Given the description of an element on the screen output the (x, y) to click on. 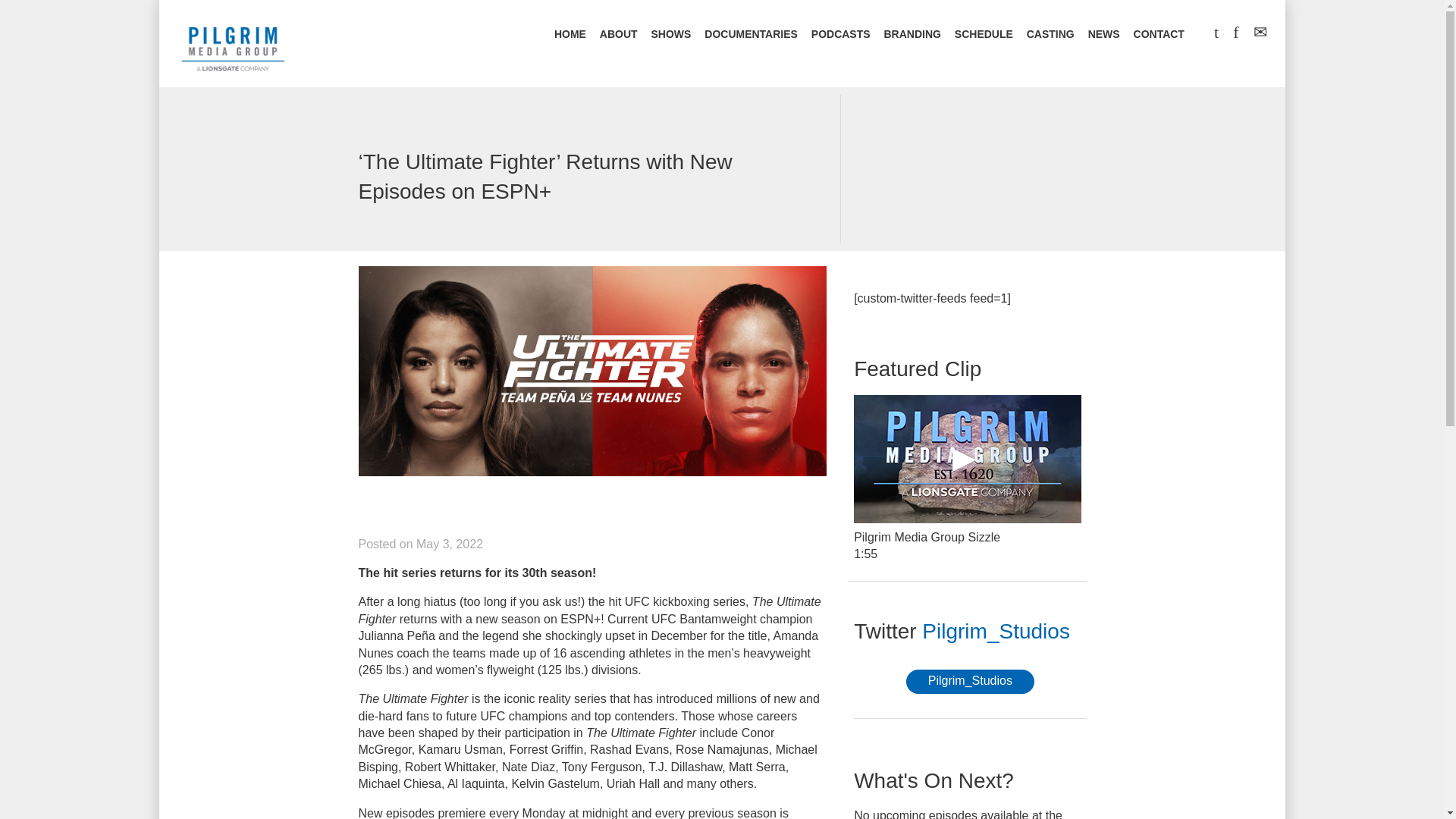
DOCUMENTARIES (750, 35)
May 3, 2022 (449, 543)
Pilgrim Media Group (232, 46)
SHOWS (670, 35)
CASTING (1050, 35)
HOME (570, 35)
NEWS (1103, 35)
3:54 pm (449, 543)
Pilgrim Media Group Sizzle (967, 457)
PODCASTS (840, 35)
Follow us on Twitter (995, 630)
ABOUT (618, 35)
BRANDING (911, 35)
SCHEDULE (984, 35)
